Given the description of an element on the screen output the (x, y) to click on. 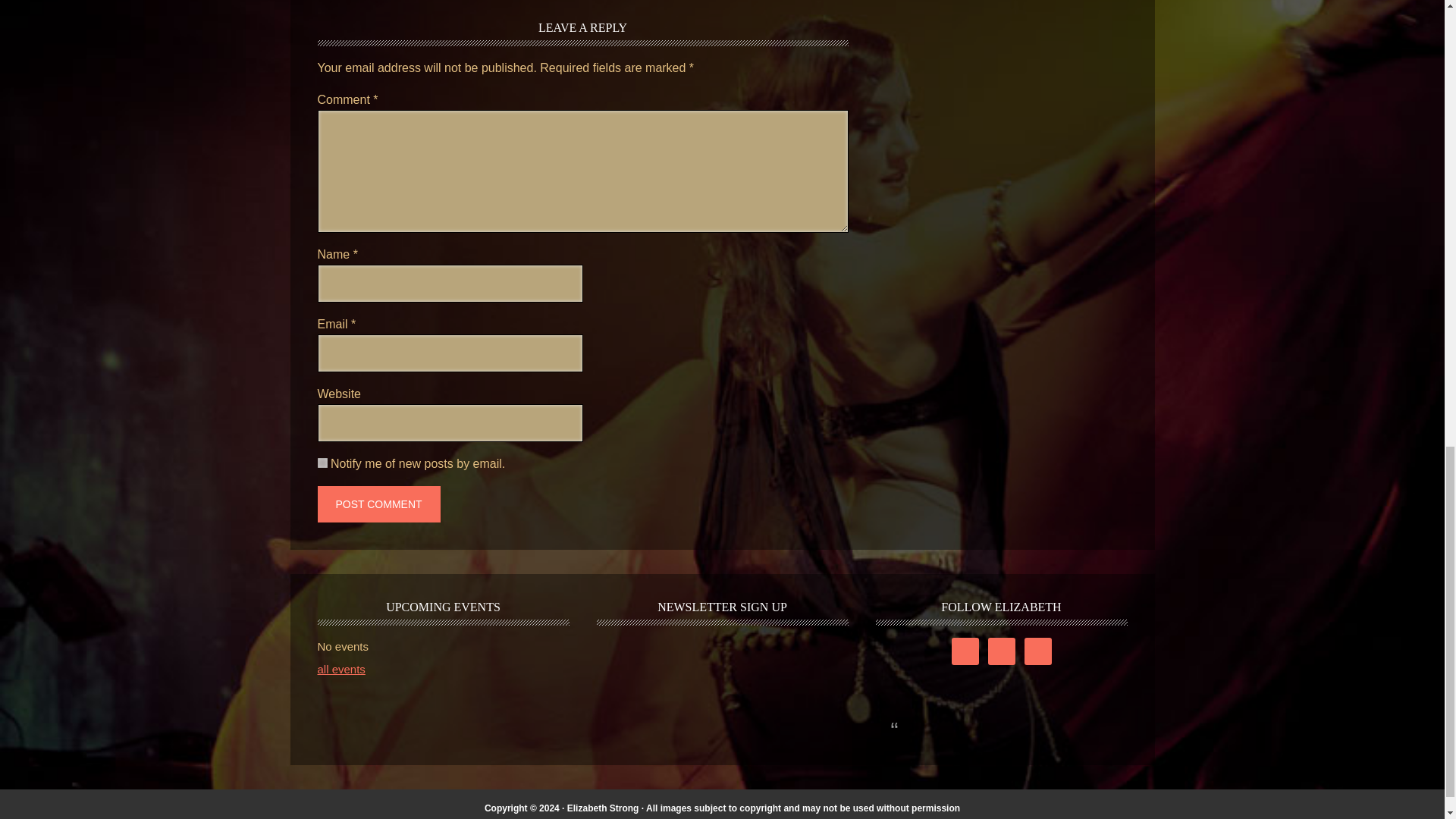
Elizabeth Strong (603, 808)
Post Comment (378, 504)
all events (341, 668)
Post Comment (378, 504)
all events (341, 668)
subscribe (321, 462)
